Given the description of an element on the screen output the (x, y) to click on. 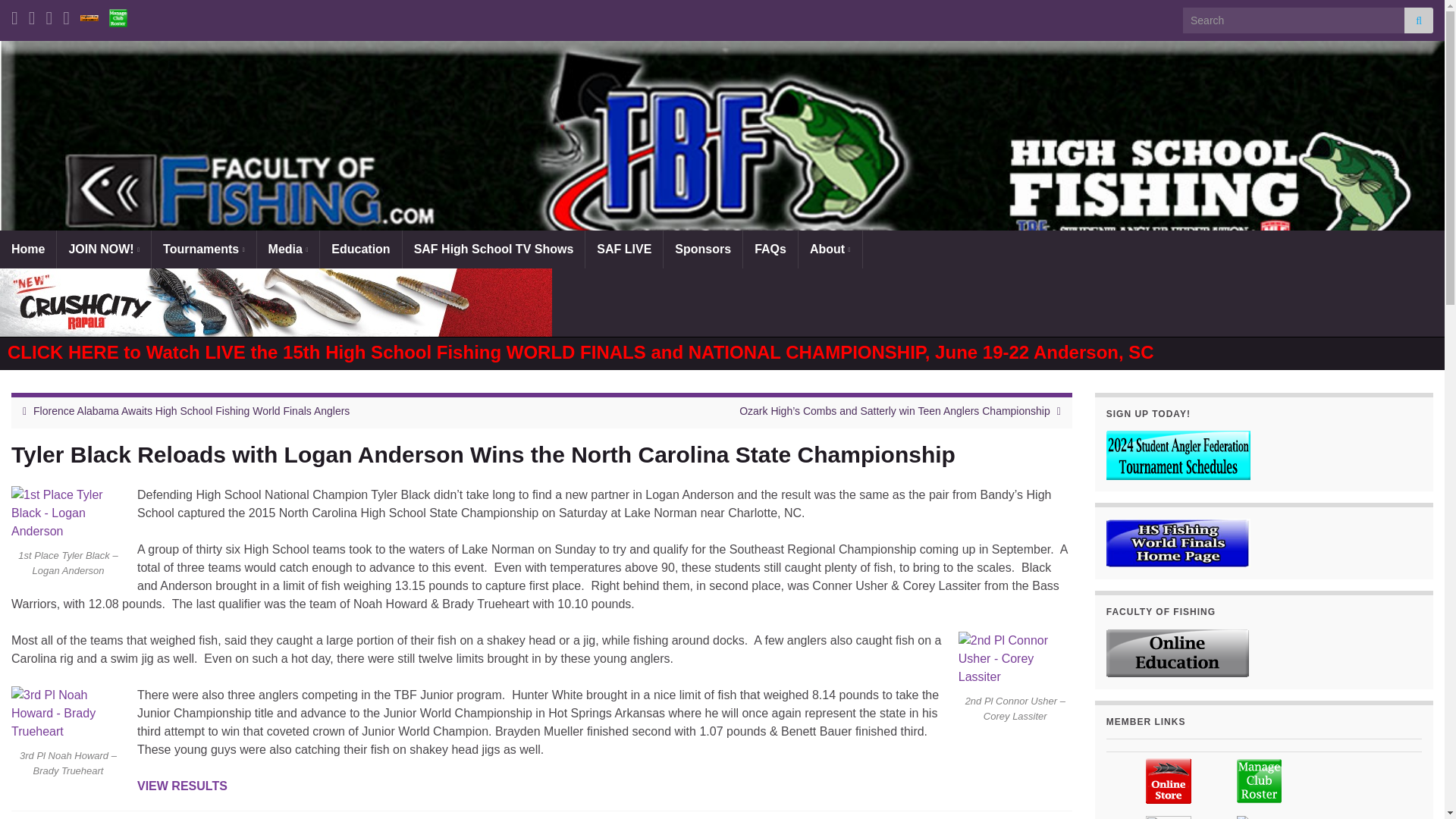
Sign up today! (1178, 454)
Register for Tournament (89, 15)
JOIN NOW! (103, 249)
Tournaments (203, 249)
Home (28, 249)
Media (288, 249)
